Given the description of an element on the screen output the (x, y) to click on. 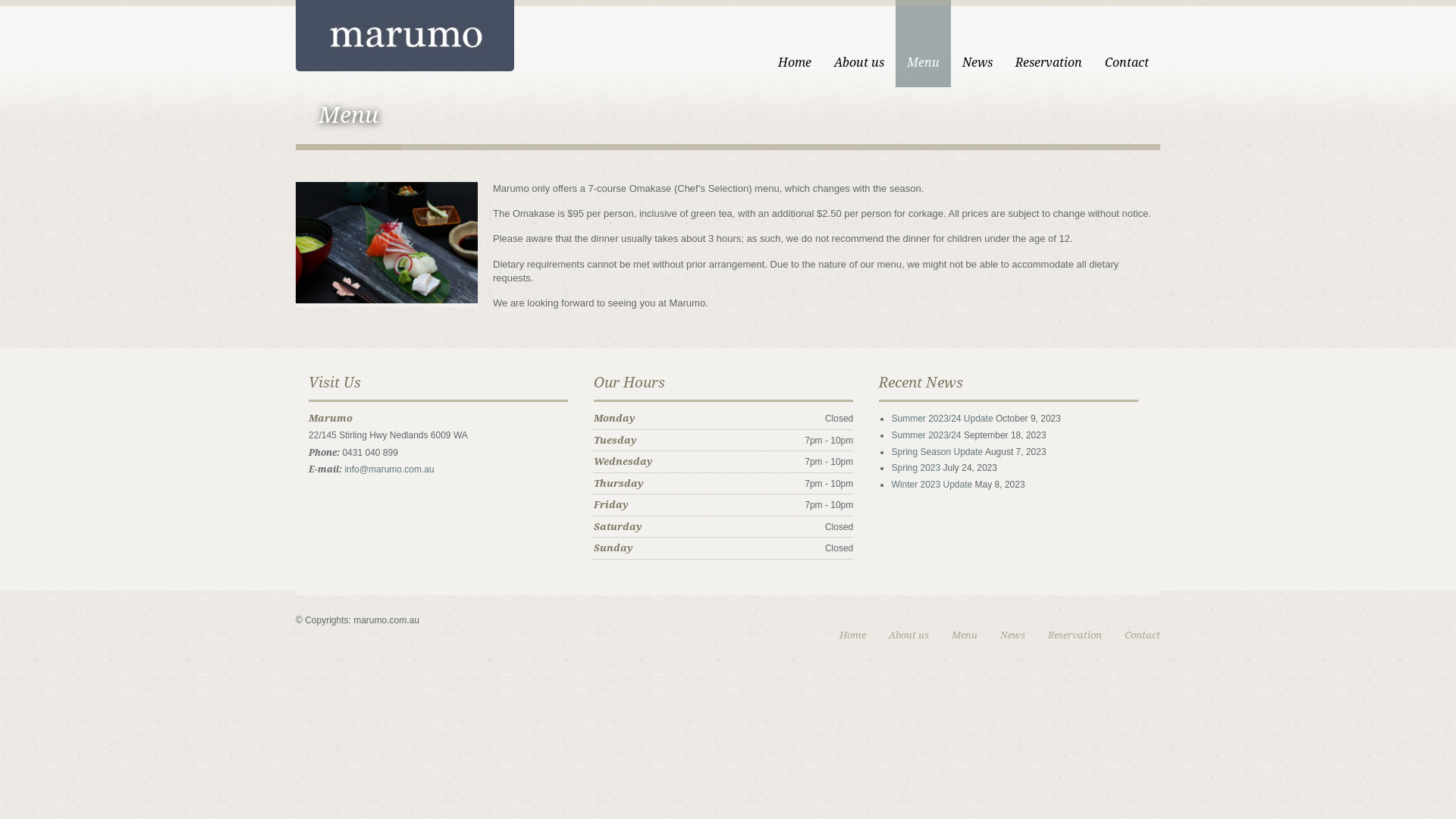
Winter 2023 Update Element type: text (931, 484)
Summer 2023/24 Element type: text (925, 434)
Home Element type: text (794, 43)
info@marumo.com.au Element type: text (388, 469)
Summer 2023/24 Update Element type: text (941, 418)
Home Element type: text (852, 634)
Menu Element type: text (964, 634)
Menu Element type: text (922, 43)
About us Element type: text (908, 634)
Contact Element type: text (1126, 43)
Spring Season Update Element type: text (936, 451)
Contact Element type: text (1142, 634)
News Element type: text (977, 43)
Marumo Element type: hover (404, 33)
About us Element type: text (858, 43)
Reservation Element type: text (1074, 634)
Reservation Element type: text (1048, 43)
News Element type: text (1012, 634)
Spring 2023 Element type: text (915, 467)
